Given the description of an element on the screen output the (x, y) to click on. 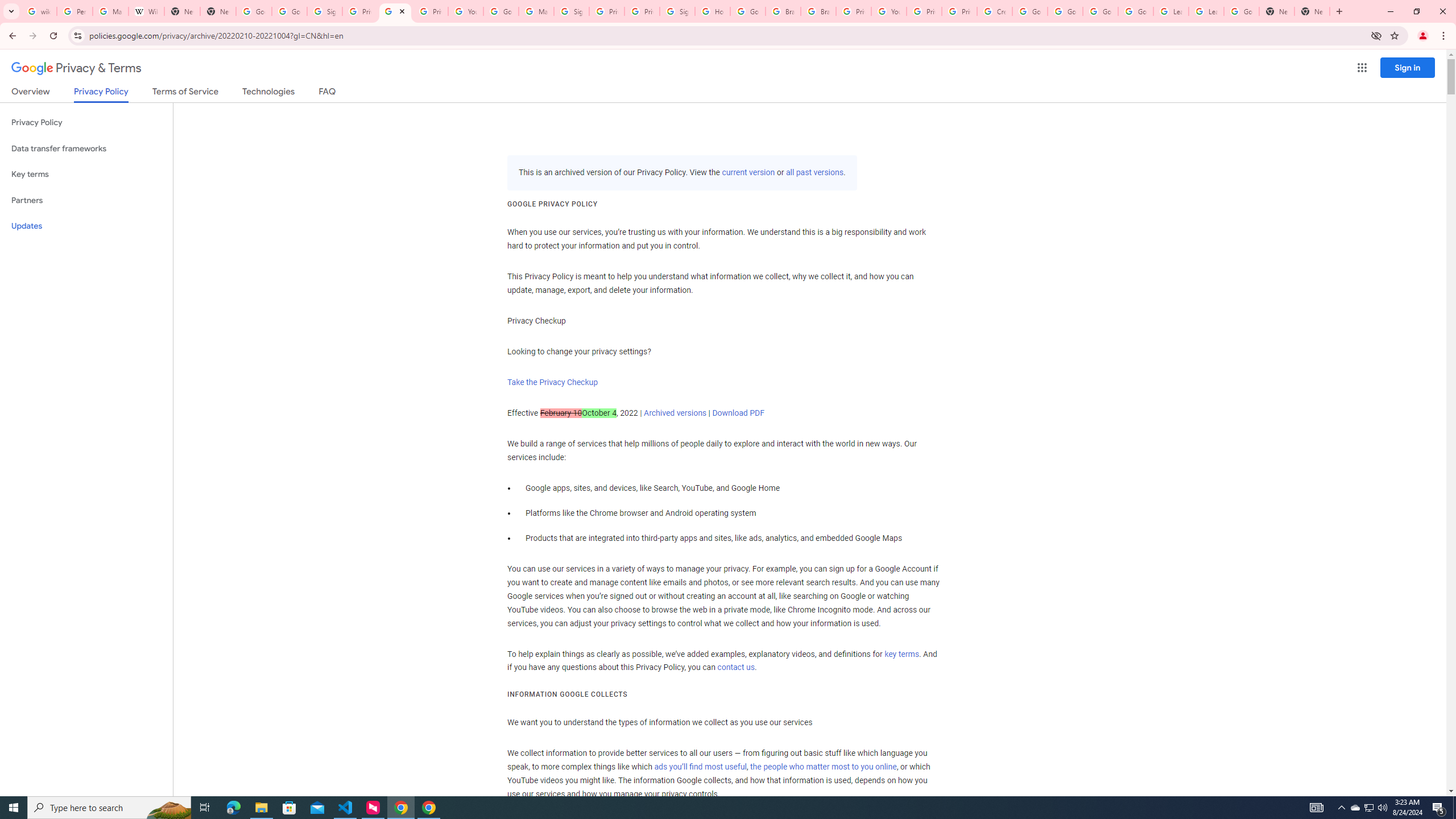
current version (748, 172)
Google Account Help (1064, 11)
Updates (86, 225)
YouTube (465, 11)
Brand Resource Center (783, 11)
Data transfer frameworks (86, 148)
Google Drive: Sign-in (288, 11)
Sign in - Google Accounts (324, 11)
Manage your Location History - Google Search Help (110, 11)
